Given the description of an element on the screen output the (x, y) to click on. 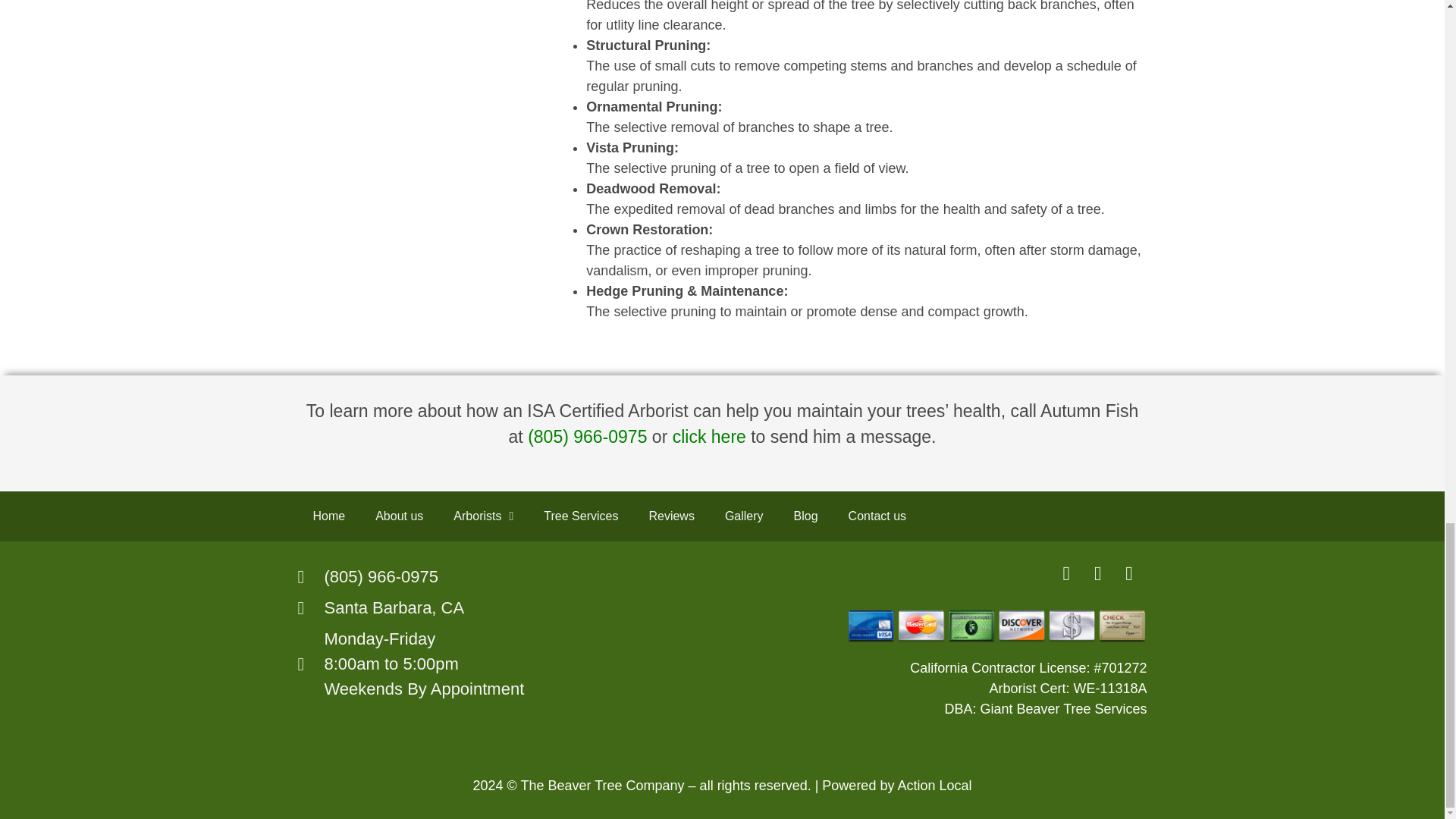
Tree Services (580, 515)
Home (328, 515)
About us (398, 515)
Arborists (483, 515)
click here (708, 436)
Reviews (671, 515)
